Given the description of an element on the screen output the (x, y) to click on. 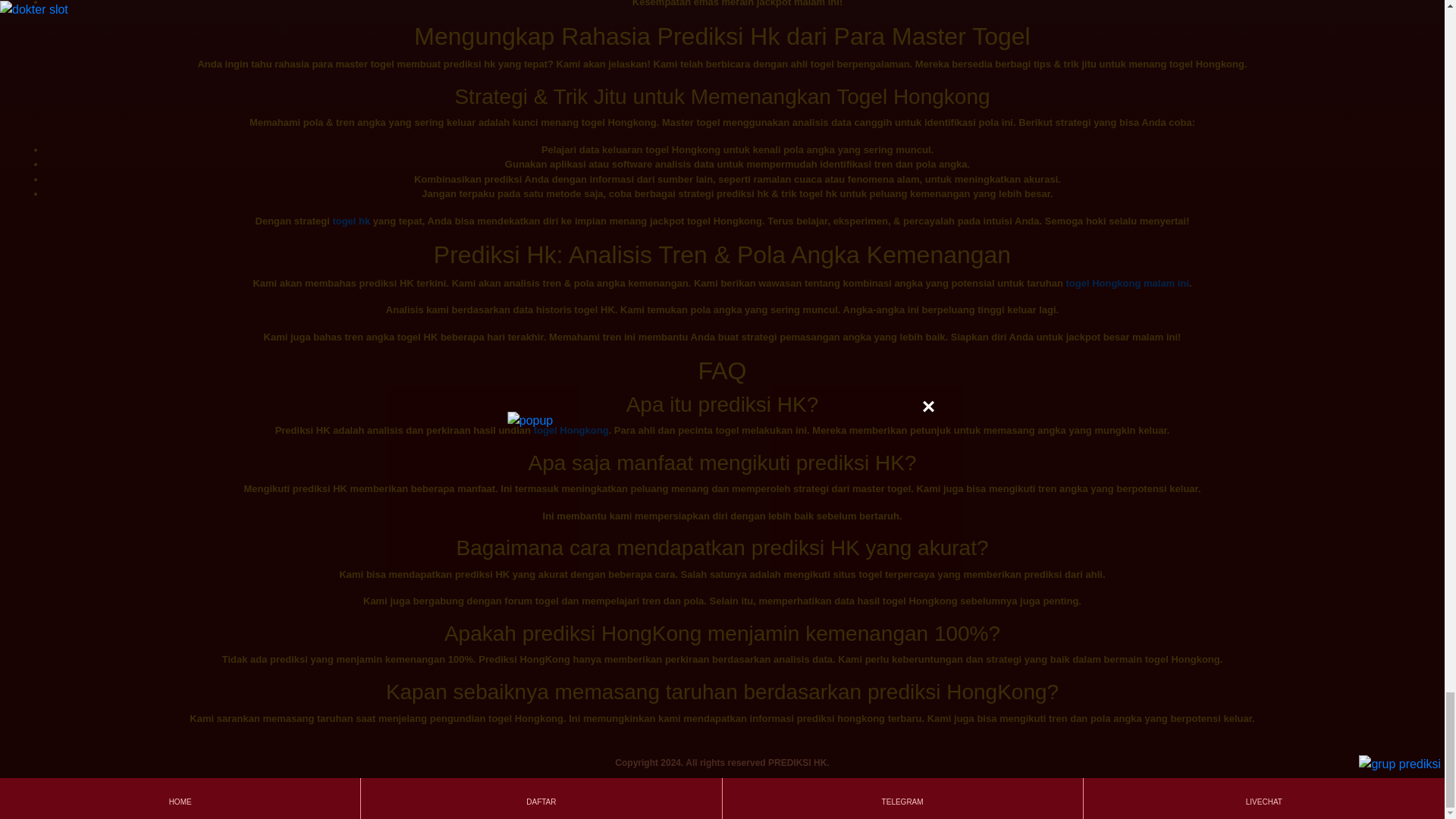
togel Hongkong (571, 430)
togel Hongkong malam ini (1127, 283)
togel hk (350, 220)
